Given the description of an element on the screen output the (x, y) to click on. 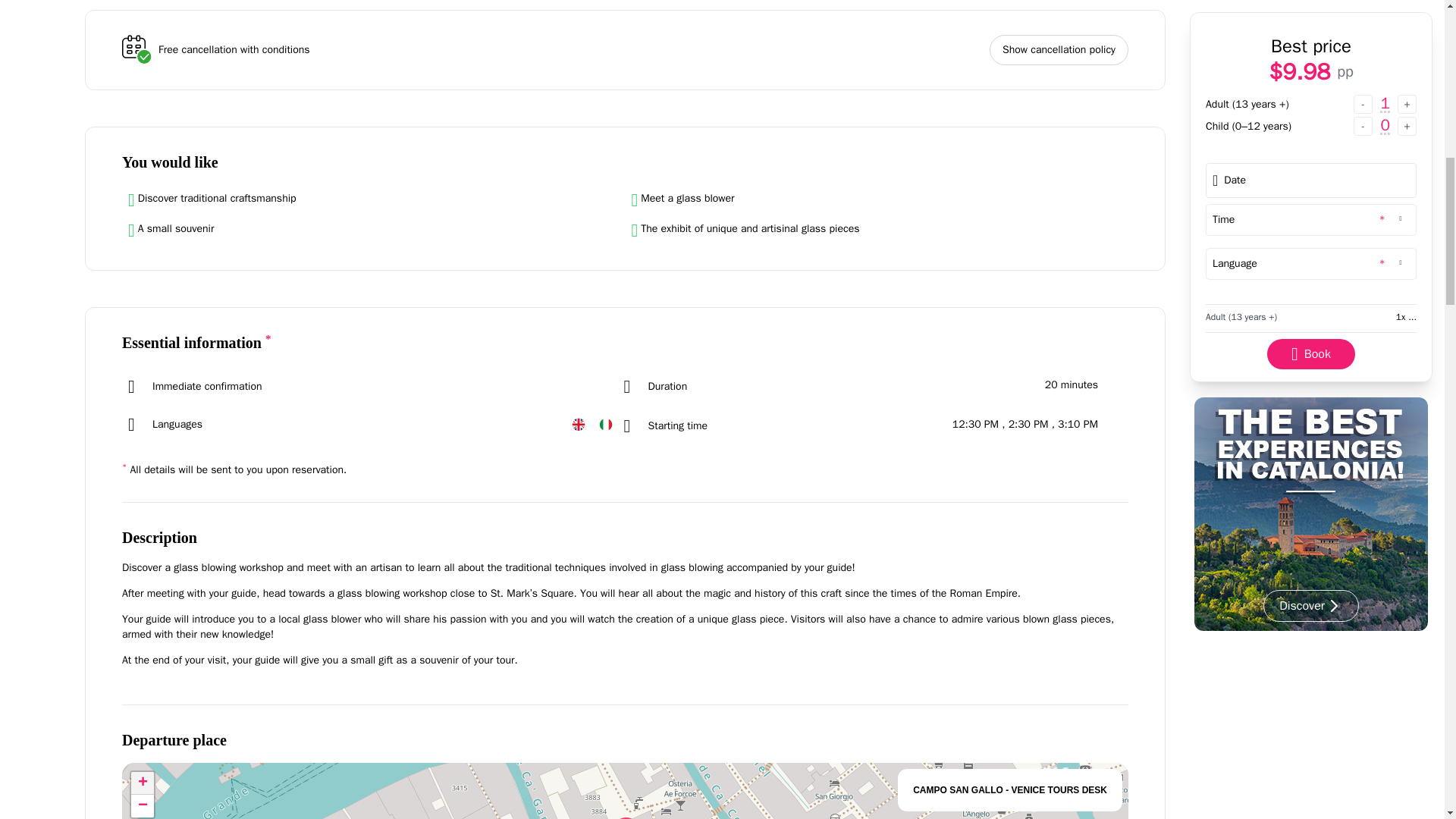
Zoom out (142, 805)
English (577, 424)
Italian (604, 424)
Show cancellation policy (1059, 50)
Zoom in (142, 783)
